Given the description of an element on the screen output the (x, y) to click on. 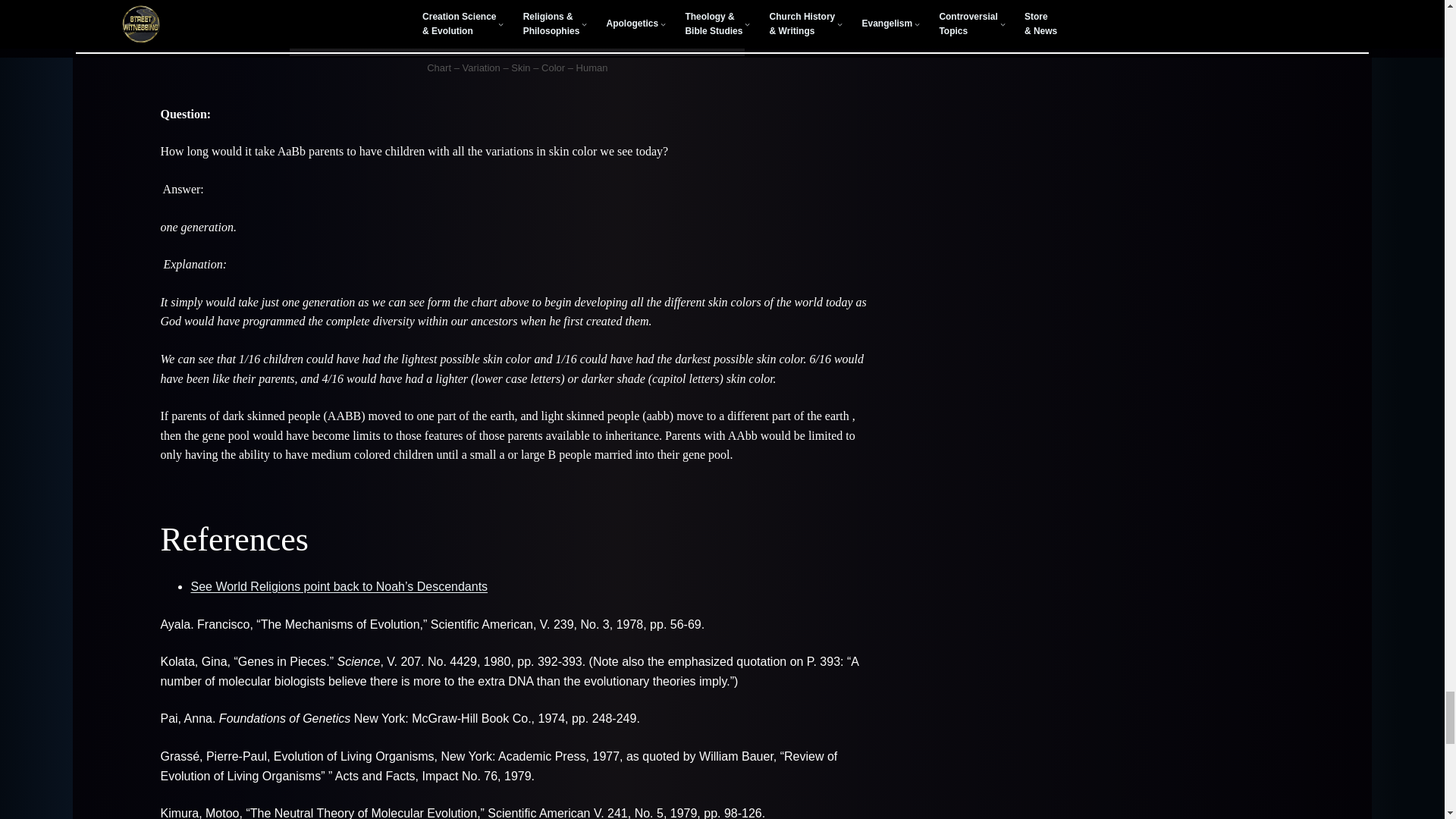
Fig.9 - Human Skin Color Variation Chart (516, 28)
